Given the description of an element on the screen output the (x, y) to click on. 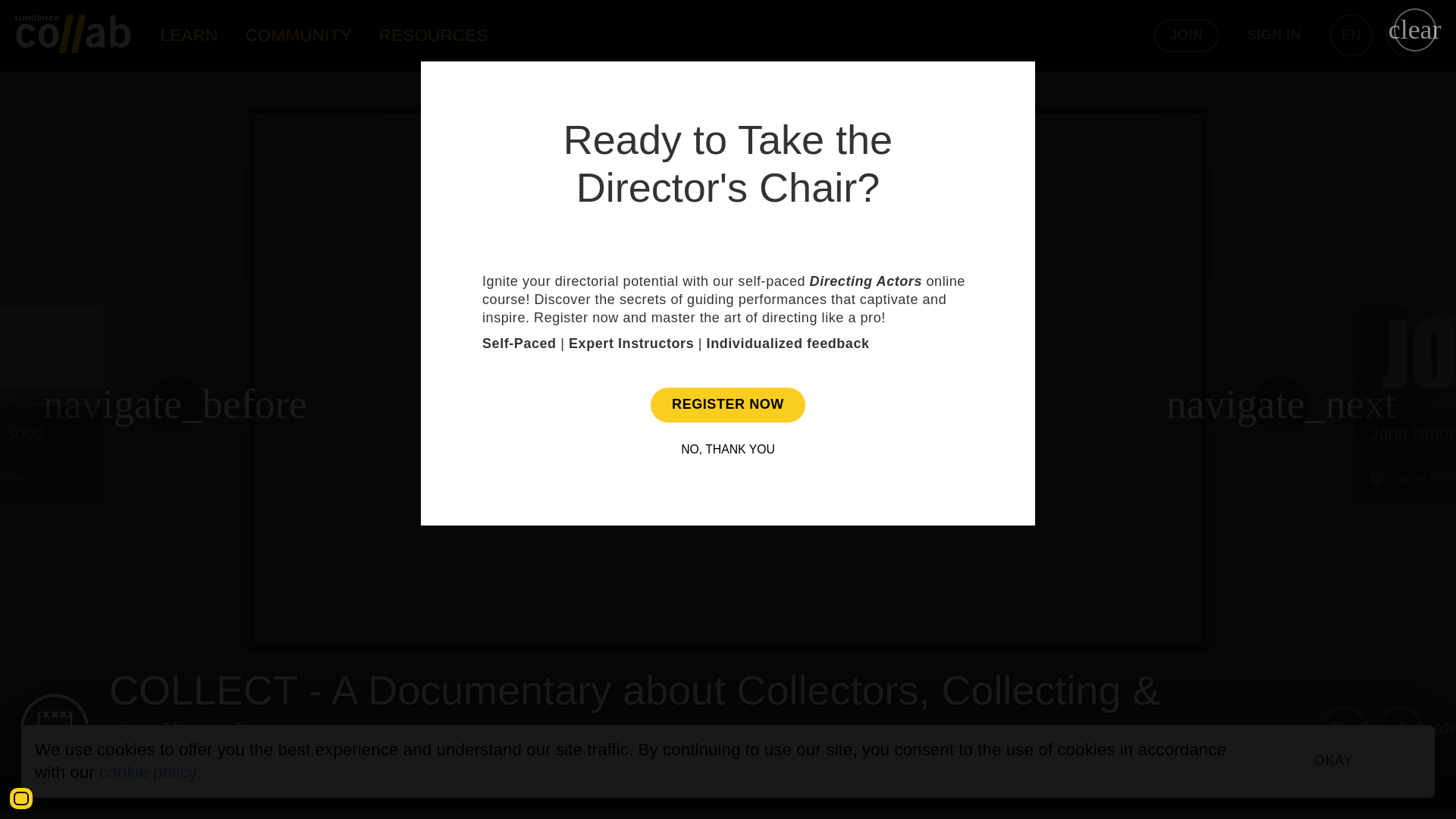
EN (51, 404)
LEARN (1351, 35)
RESOURCES (189, 35)
COMMUNITY (433, 35)
SIGN IN (298, 35)
Accessibility Menu (1273, 35)
OKAY (21, 798)
Search (1333, 761)
cookie policy. (1407, 35)
JOIN (149, 772)
